Given the description of an element on the screen output the (x, y) to click on. 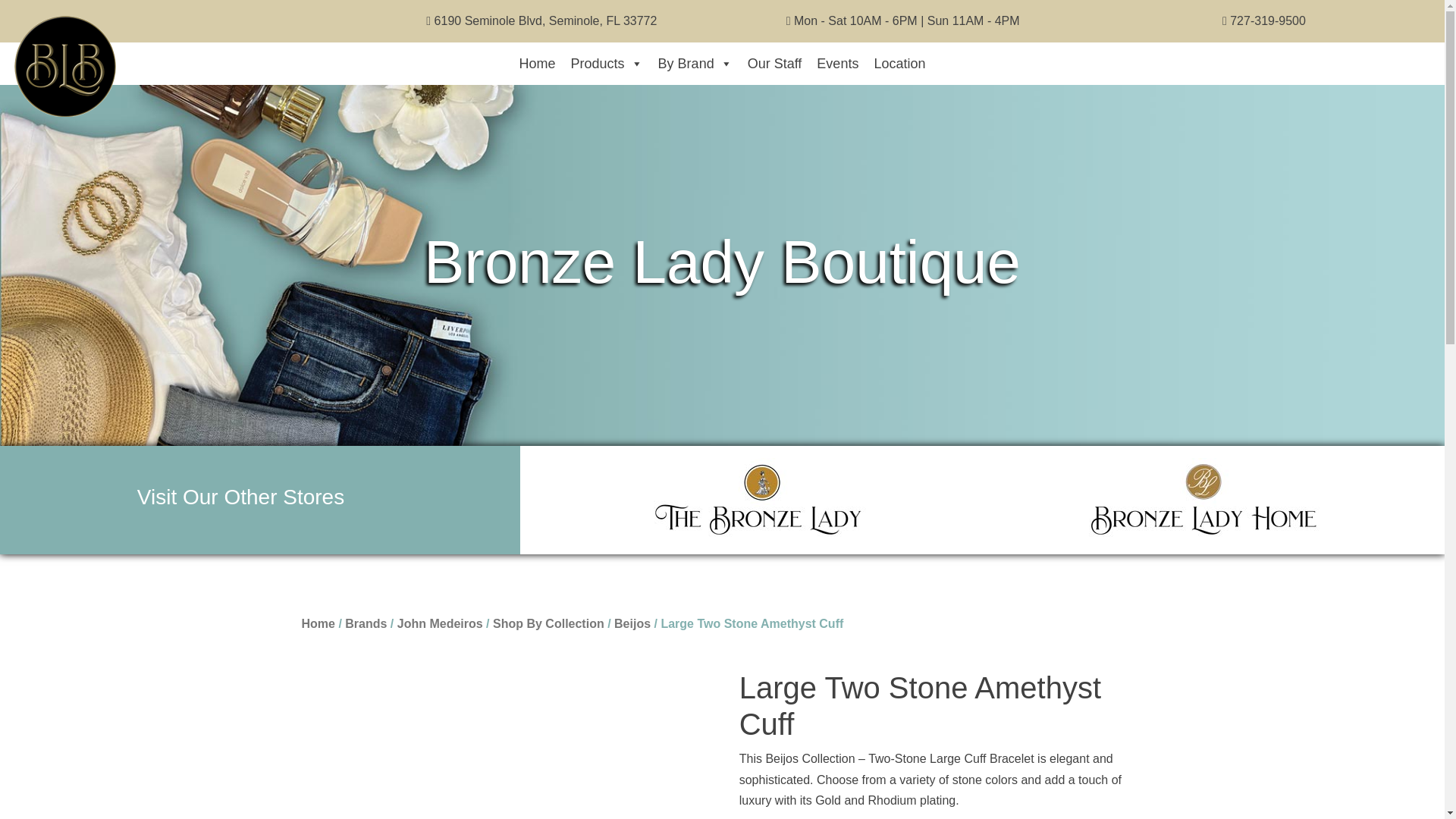
727-319-9500 (1268, 20)
Our Staff (774, 63)
Events (837, 63)
Products (606, 63)
By Brand (694, 63)
Home (537, 63)
